Given the description of an element on the screen output the (x, y) to click on. 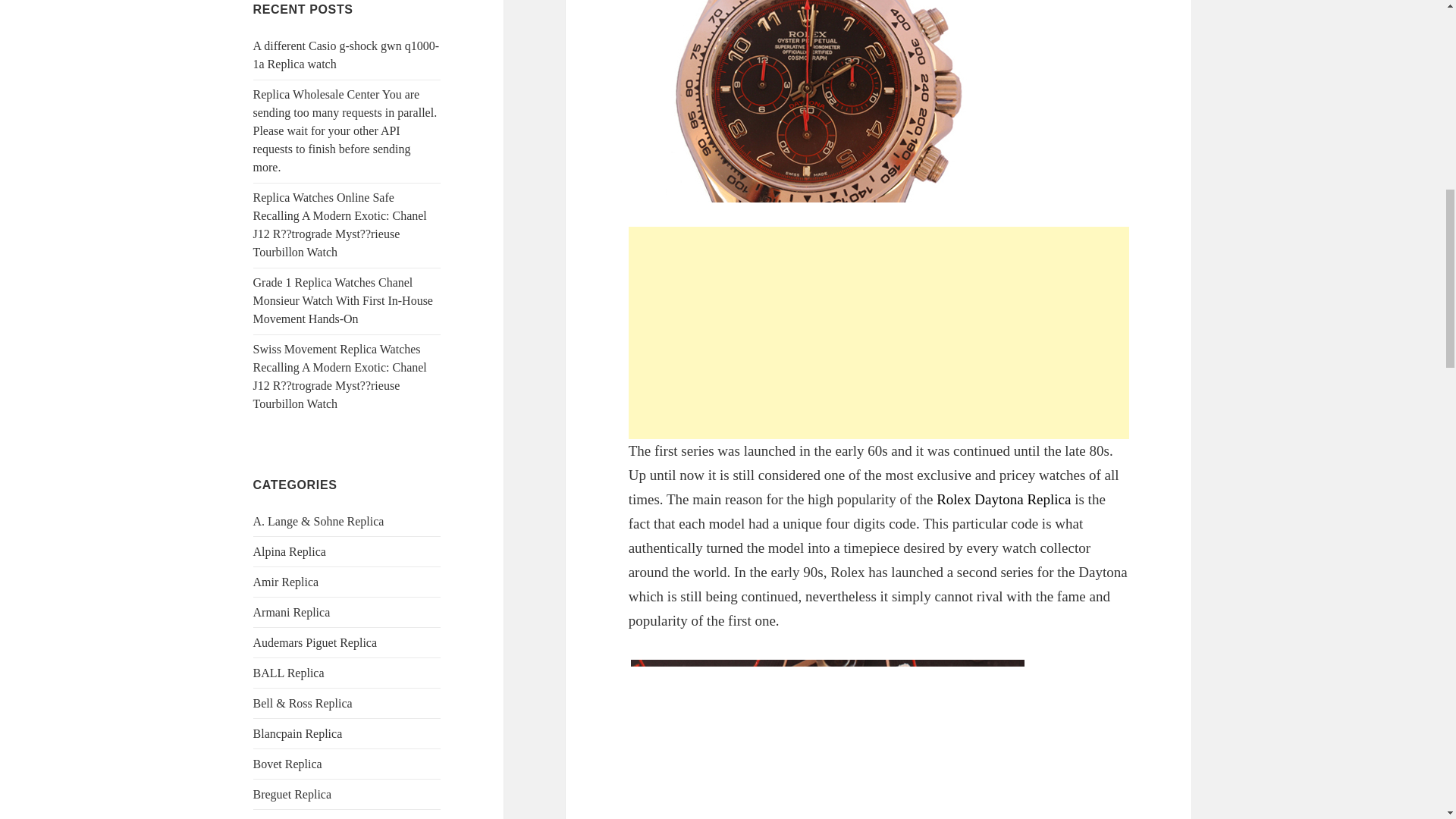
Amir Replica (285, 581)
Audemars Piguet Replica (315, 642)
Armani Replica (291, 612)
Alpina Replica (289, 551)
Advertisement (878, 332)
BALL Replica (288, 672)
Blancpain Replica (297, 733)
A different Casio g-shock gwn q1000-1a Replica watch (346, 54)
Breguet Replica (292, 793)
Bovet Replica (287, 763)
